Given the description of an element on the screen output the (x, y) to click on. 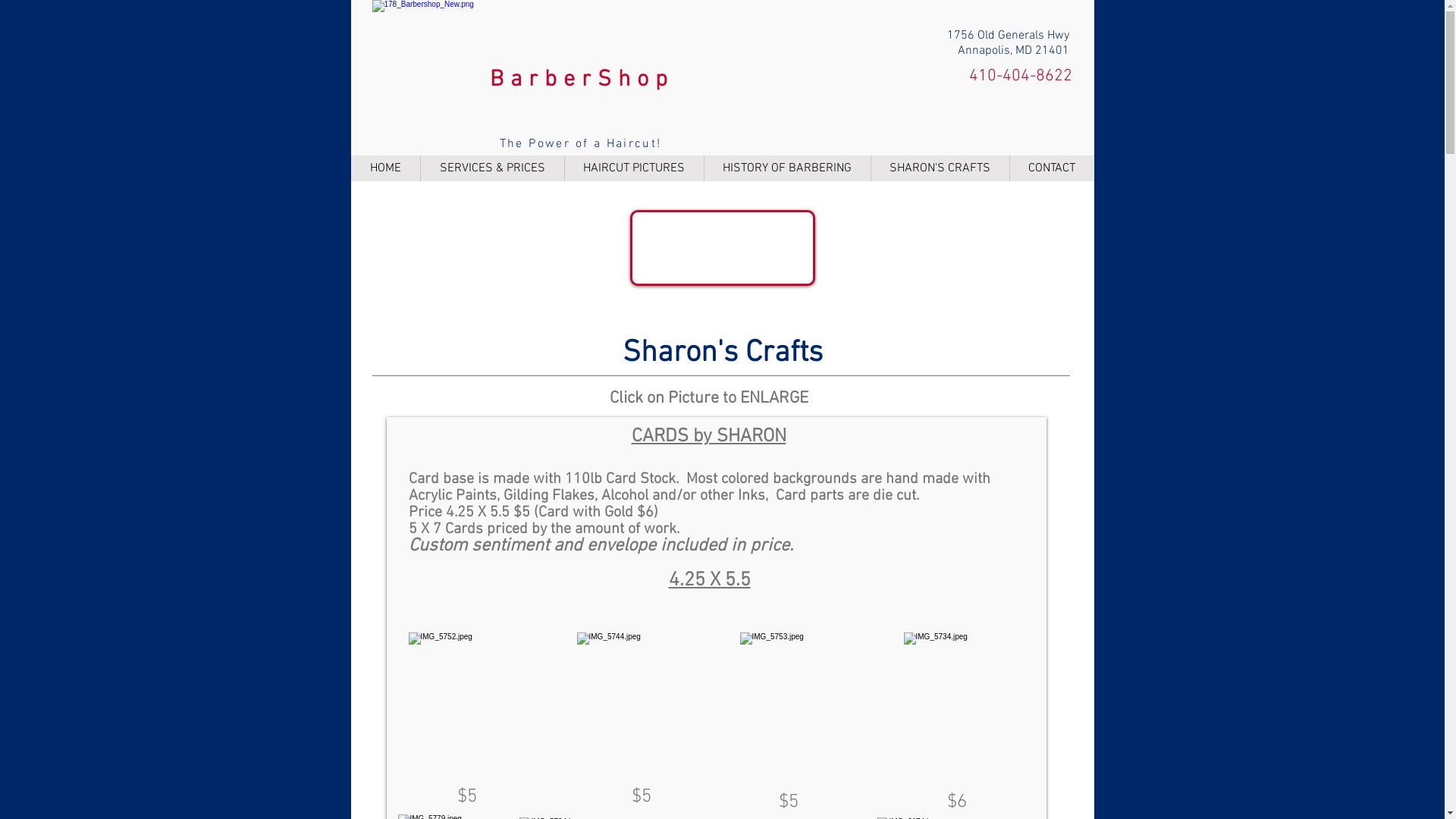
HISTORY OF BARBERING Element type: text (786, 168)
CONTACT Element type: text (1050, 168)
SHARON'S CRAFTS Element type: text (939, 168)
The Power of a Haircut! Element type: text (579, 143)
Embedded Content Element type: hover (719, 247)
410-404-8622 Element type: text (1020, 75)
SERVICES & PRICES Element type: text (492, 168)
HAIRCUT PICTURES Element type: text (633, 168)
HOME Element type: text (384, 168)
BarberShop Element type: text (581, 79)
